Given the description of an element on the screen output the (x, y) to click on. 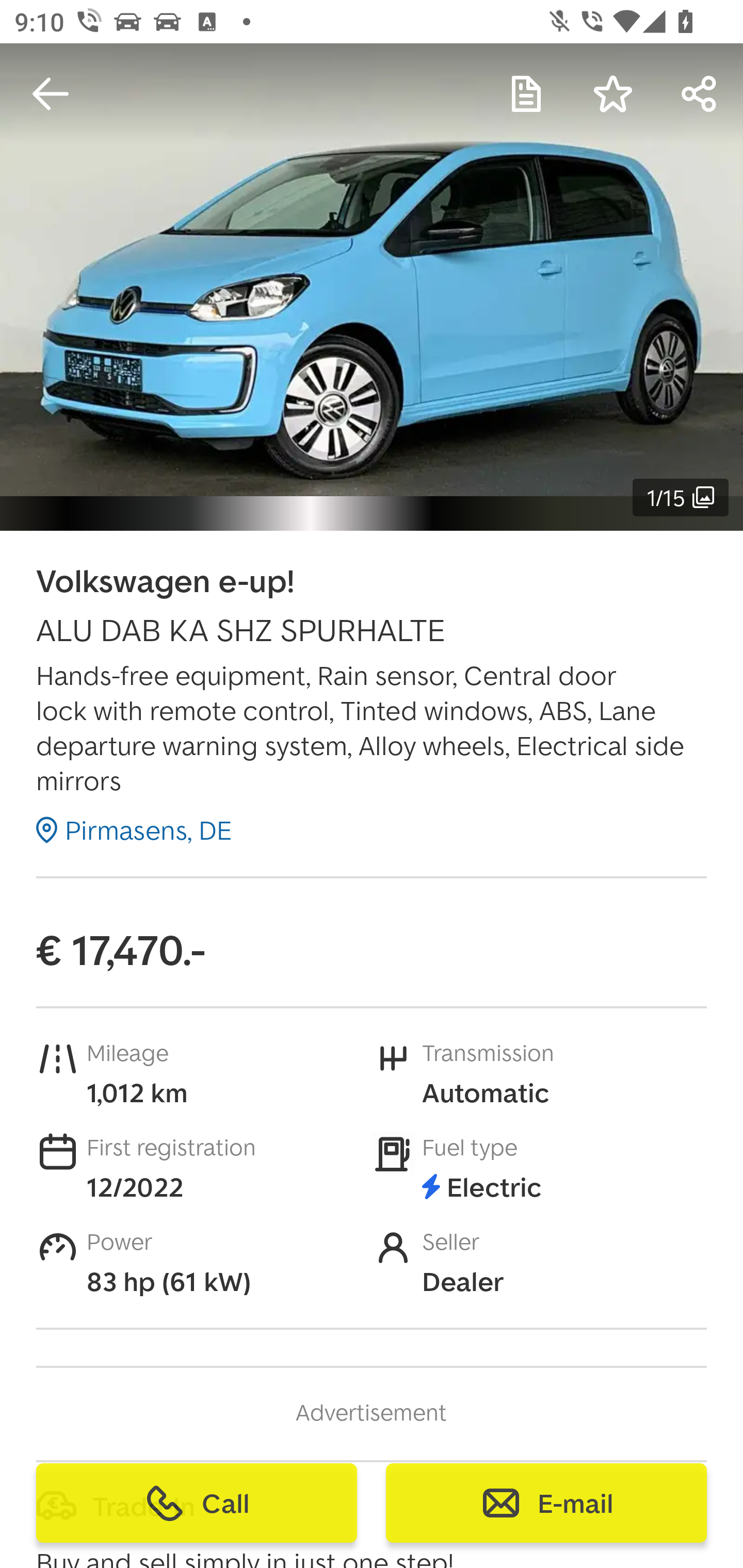
Navigate up (50, 93)
My Notes (525, 93)
Save (612, 93)
Forward (699, 93)
Pirmasens, DE (133, 829)
Call (196, 1502)
E-mail (545, 1502)
